Given the description of an element on the screen output the (x, y) to click on. 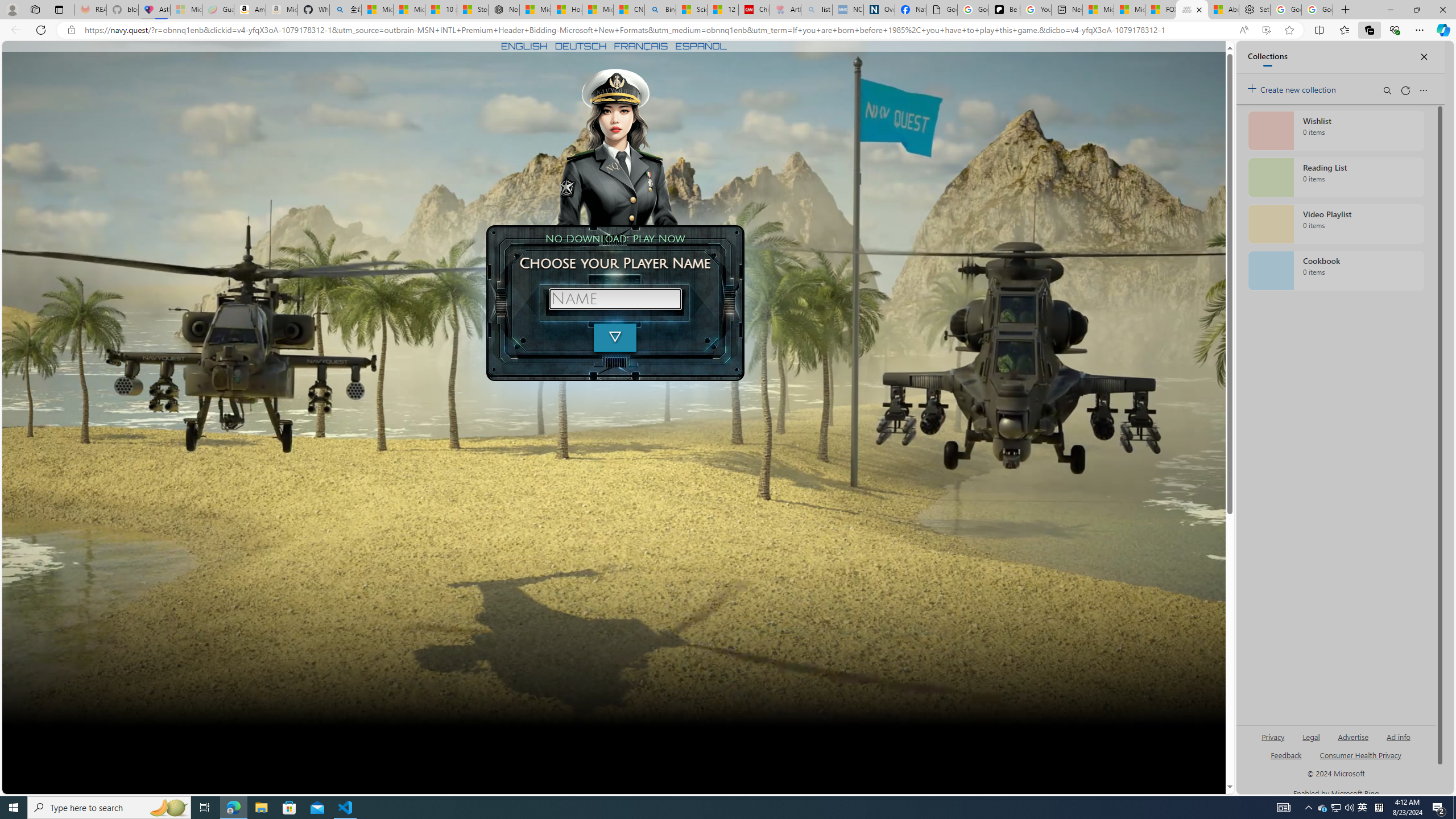
AutomationID: sb_feedback (1286, 754)
DEUTSCH (580, 45)
Arthritis: Ask Health Professionals - Sleeping (785, 9)
View site information (70, 29)
How I Got Rid of Microsoft Edge's Unnecessary Features (566, 9)
12 Popular Science Lies that Must be Corrected (722, 9)
App bar (728, 29)
Browser essentials (1394, 29)
Personal Profile (12, 9)
list of asthma inhalers uk - Search - Sleeping (816, 9)
